Given the description of an element on the screen output the (x, y) to click on. 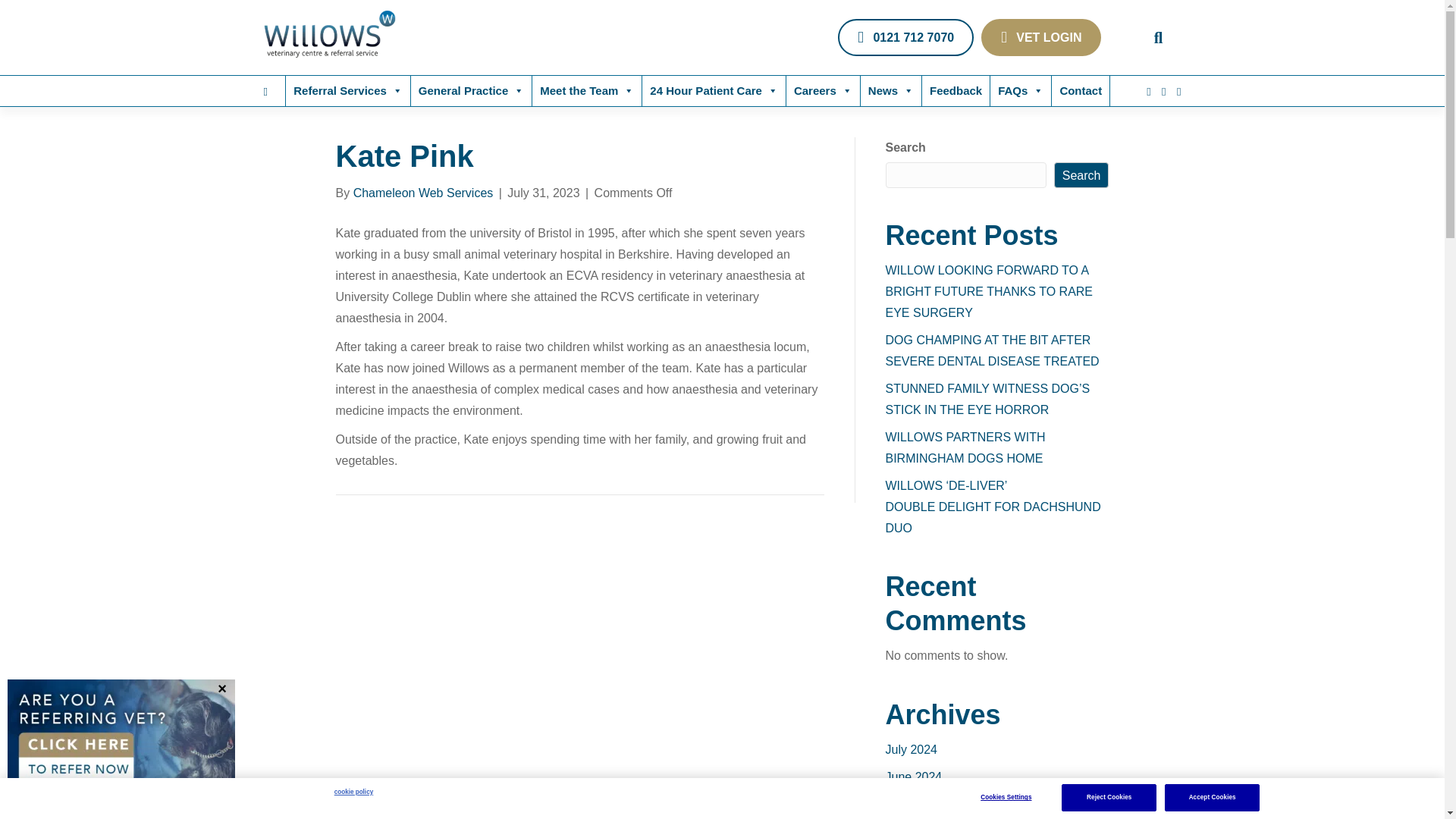
0121 712 7070 (906, 37)
Referral Services (347, 91)
VET LOGIN (1040, 37)
General Practice (470, 91)
